Given the description of an element on the screen output the (x, y) to click on. 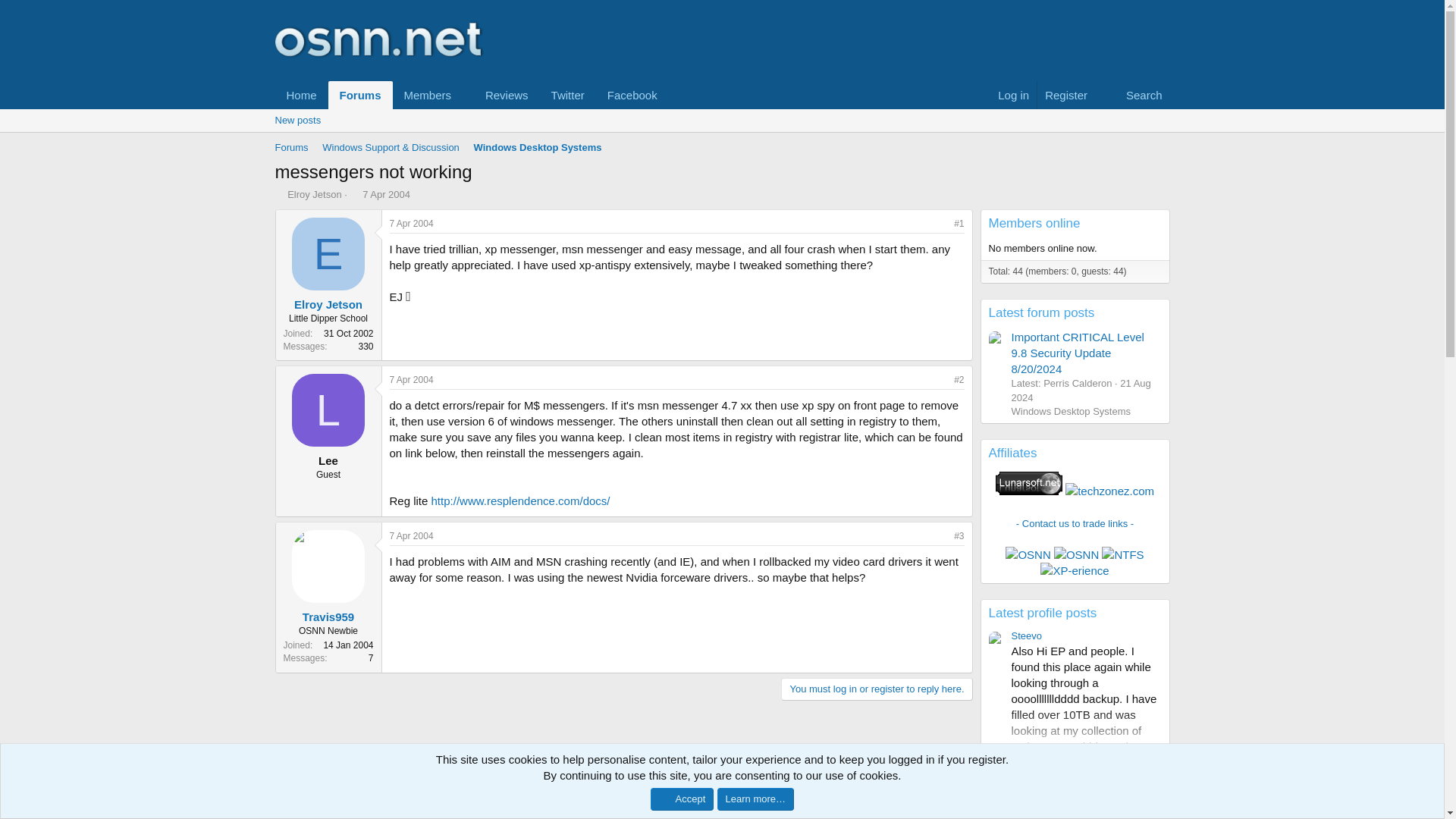
Forums (290, 148)
7 Apr 2004 at 7:40 AM (386, 194)
Register (1065, 94)
Thread starter (279, 194)
7 Apr 2004 at 8:12 AM (411, 379)
Facebook (631, 94)
Interact (1154, 762)
24 May 2022 at 4:26 PM (1039, 763)
21 Aug 2024 at 12:56 AM (1081, 389)
E (328, 253)
